Given the description of an element on the screen output the (x, y) to click on. 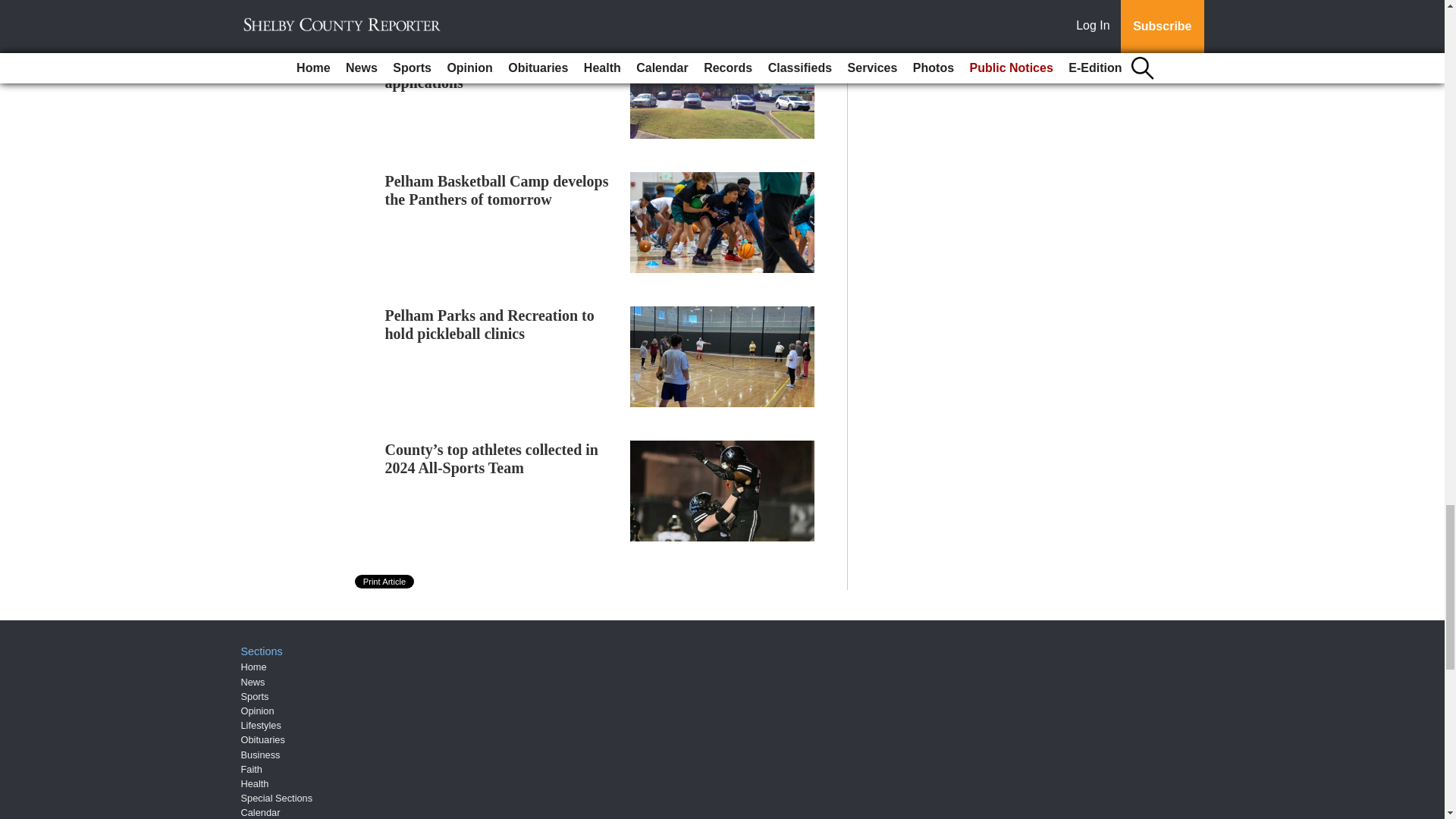
Pelham Parks and Recreation to hold pickleball clinics (489, 324)
Pelham Basketball Camp develops the Panthers of tomorrow (496, 190)
